Given the description of an element on the screen output the (x, y) to click on. 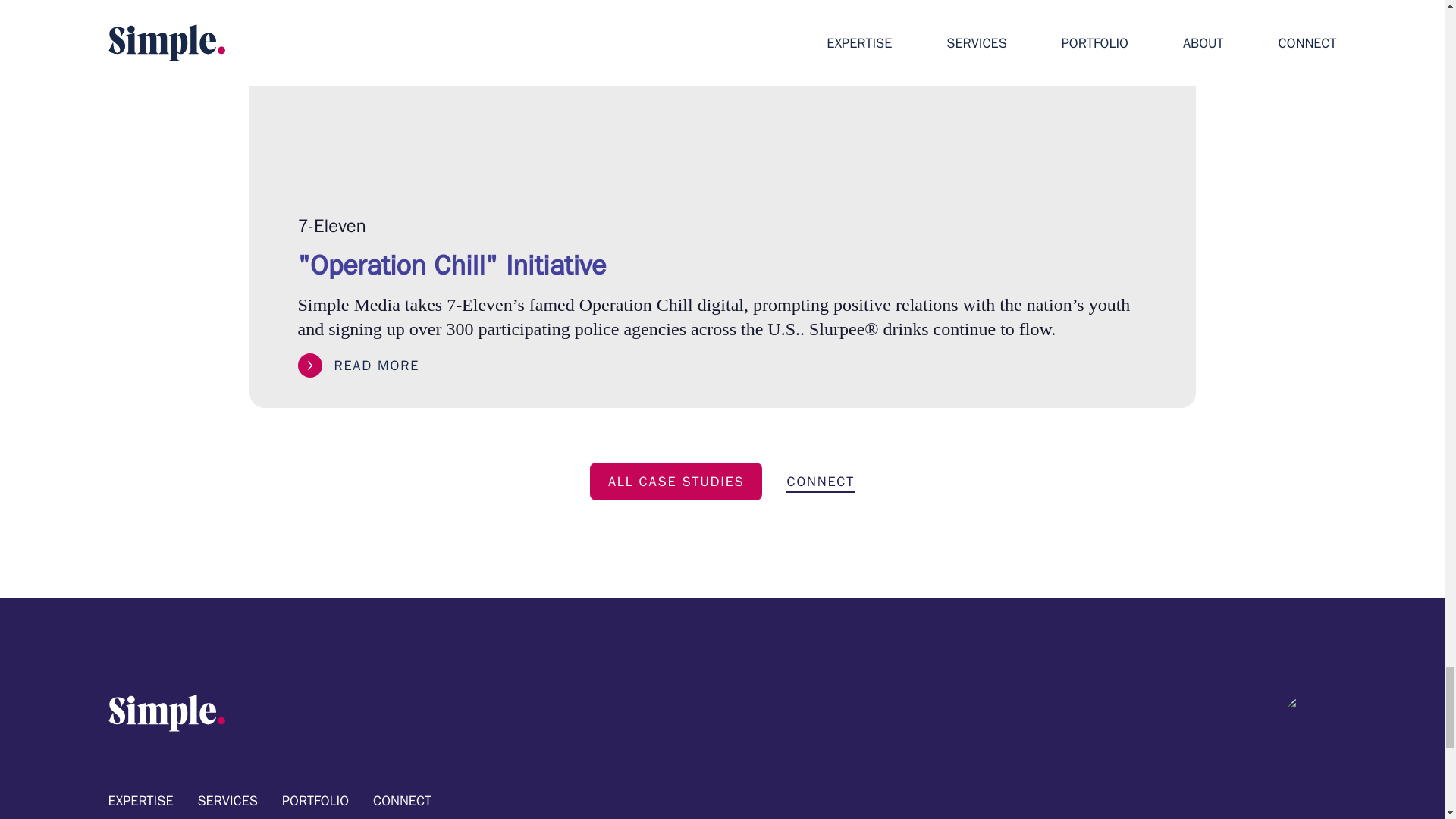
CONNECT (820, 477)
ALL CASE STUDIES (675, 481)
READ MORE (358, 364)
